Given the description of an element on the screen output the (x, y) to click on. 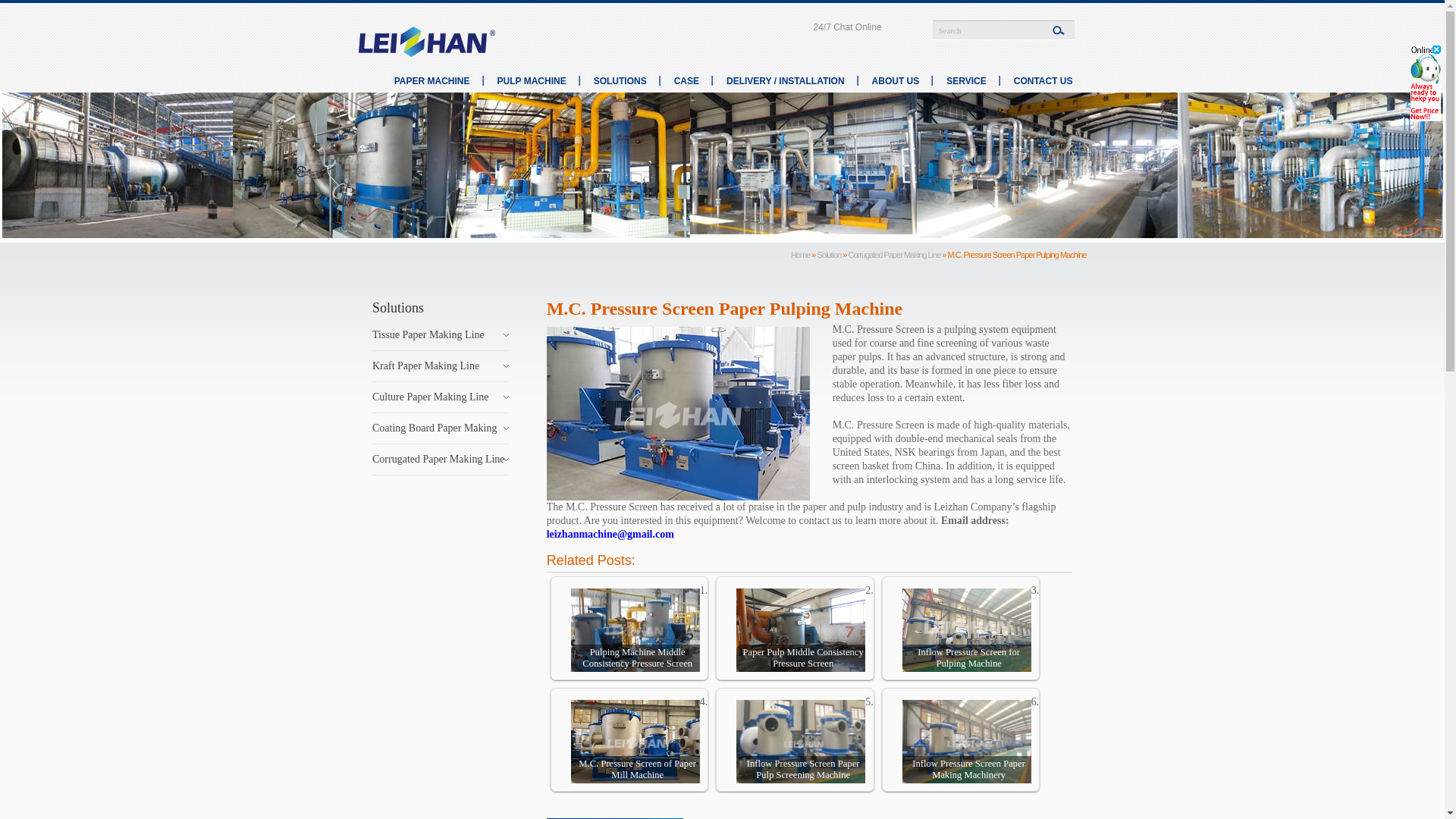
SERVICE (965, 81)
ABOUT US (896, 81)
Corrugated Paper Making Line (893, 254)
Solution (828, 254)
Inflow Pressure Screen Paper Making Machinery (966, 743)
SOLUTIONS (620, 81)
Search (986, 30)
CONTACT US (1043, 81)
Pulping Machine Middle Consistency Pressure Screen (635, 631)
